Given the description of an element on the screen output the (x, y) to click on. 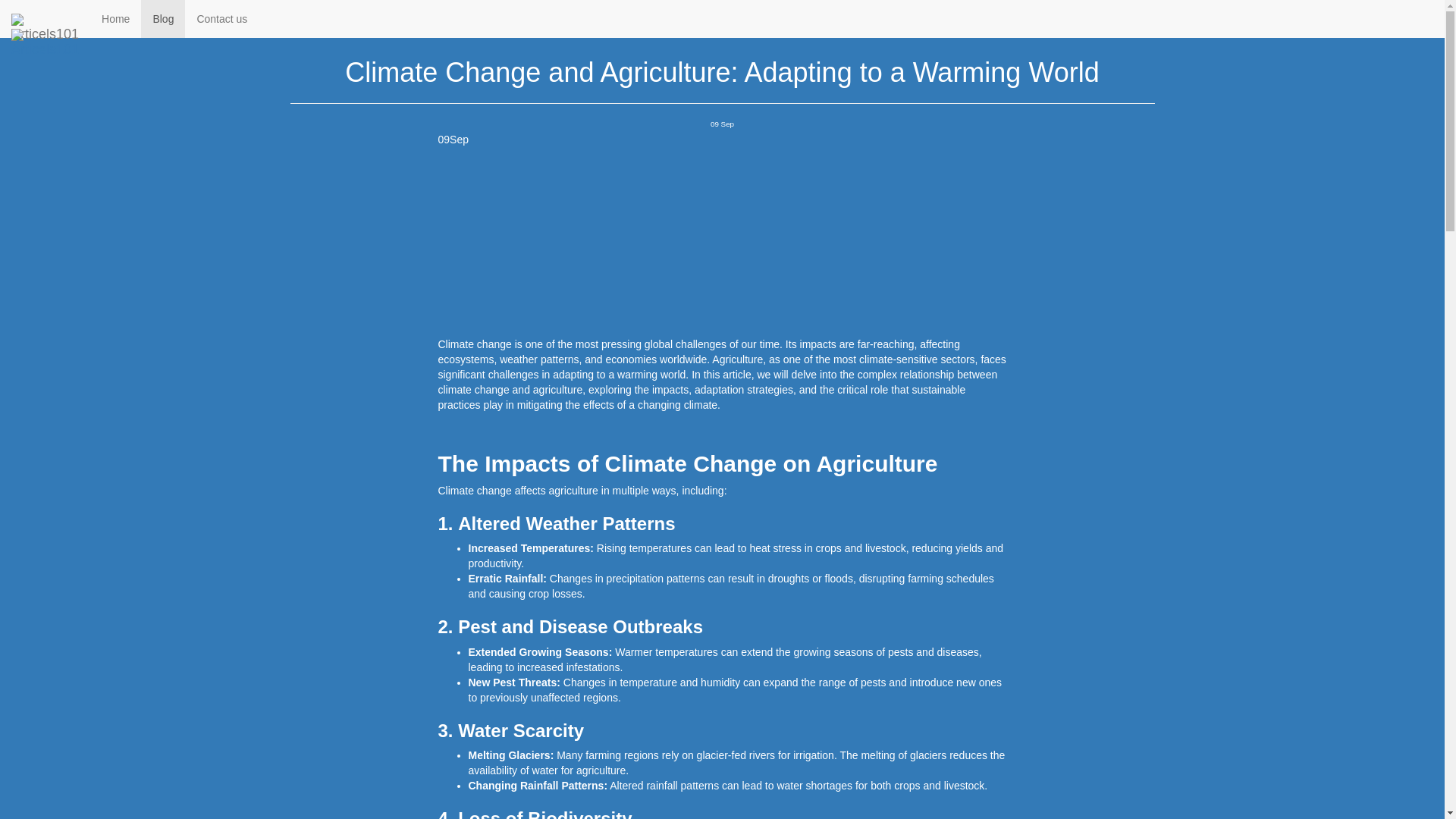
Articels101 (45, 18)
Contact us (221, 18)
Articels101 (45, 34)
Blog (342, 12)
Blog (162, 18)
Home (303, 12)
Home (115, 18)
